Given the description of an element on the screen output the (x, y) to click on. 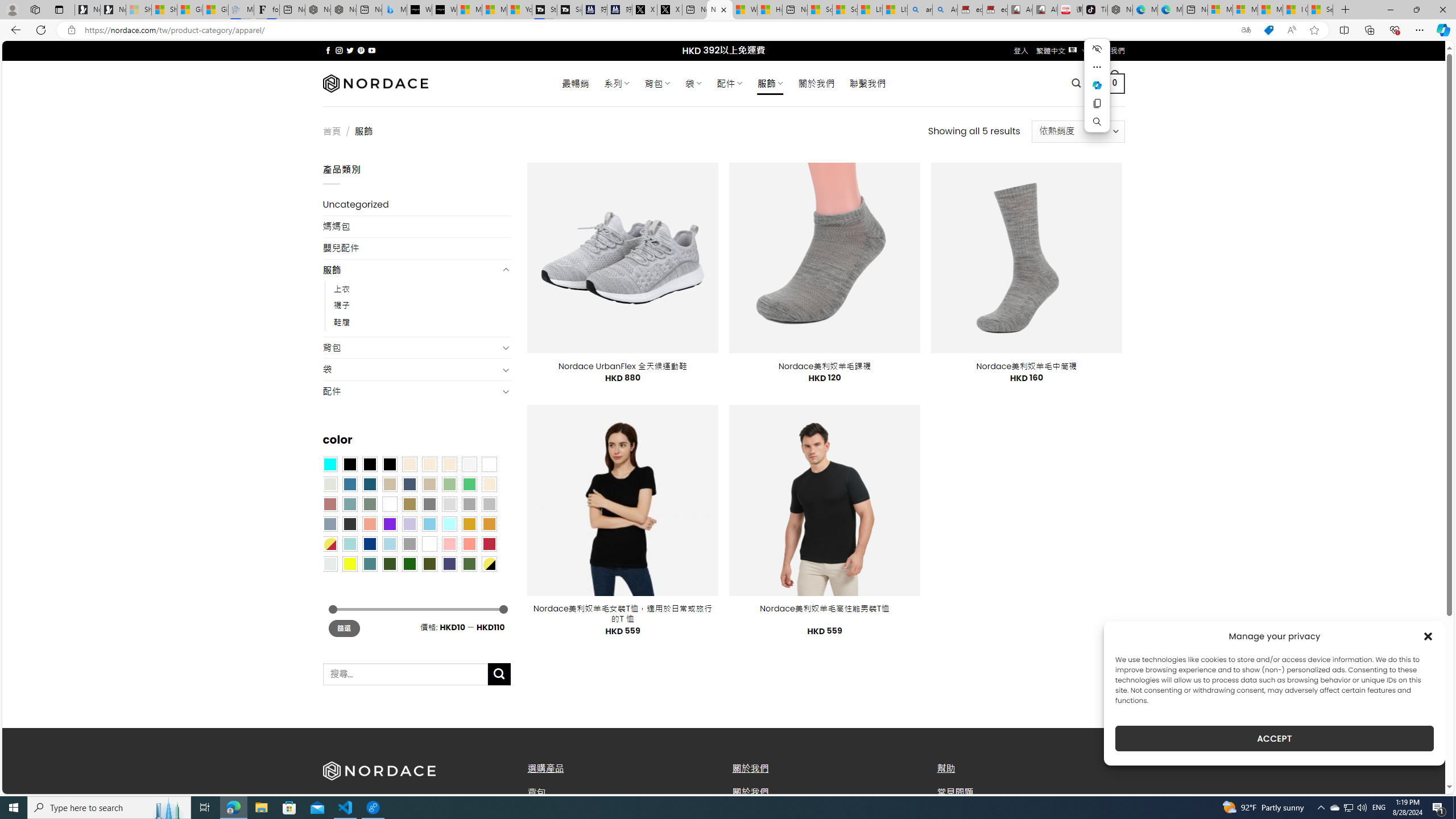
Follow on YouTube (371, 50)
X (669, 9)
Collections (1369, 29)
New Tab (1346, 9)
Read aloud this page (Ctrl+Shift+U) (1291, 29)
Add this page to favorites (Ctrl+D) (1314, 29)
